Given the description of an element on the screen output the (x, y) to click on. 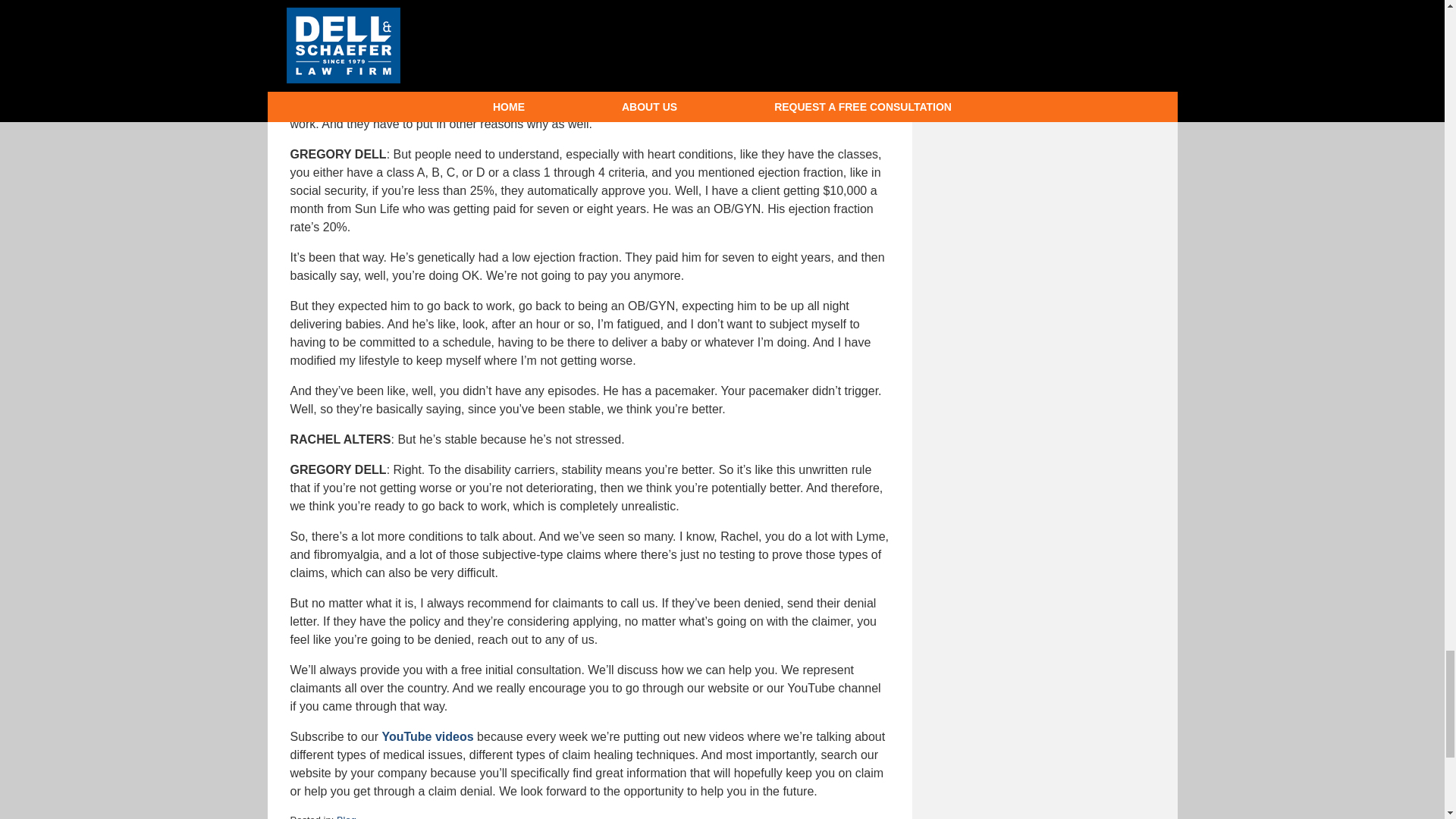
YouTube videos (427, 736)
Blog (346, 816)
View all posts in Blog (346, 816)
